Given the description of an element on the screen output the (x, y) to click on. 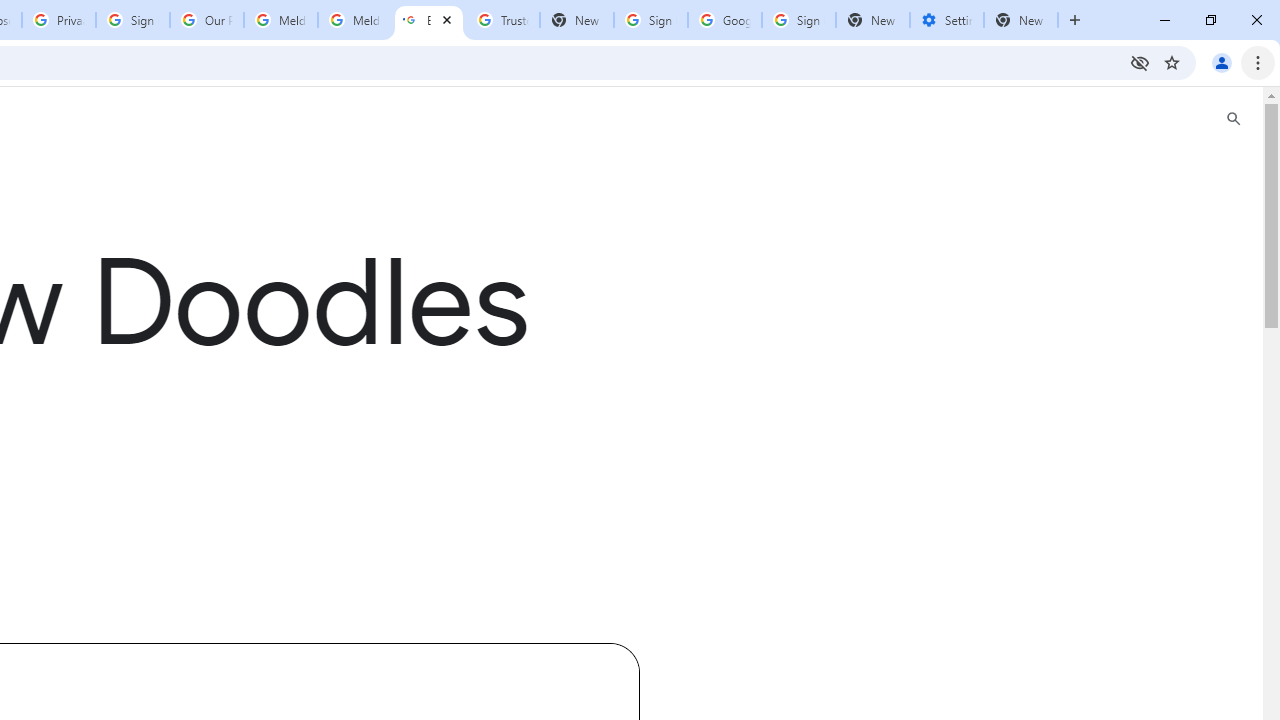
Google Cybersecurity Innovations - Google Safety Center (724, 20)
Settings - Addresses and more (947, 20)
Trusted Information and Content - Google Safety Center (502, 20)
Sign in - Google Accounts (651, 20)
New Tab (872, 20)
